Given the description of an element on the screen output the (x, y) to click on. 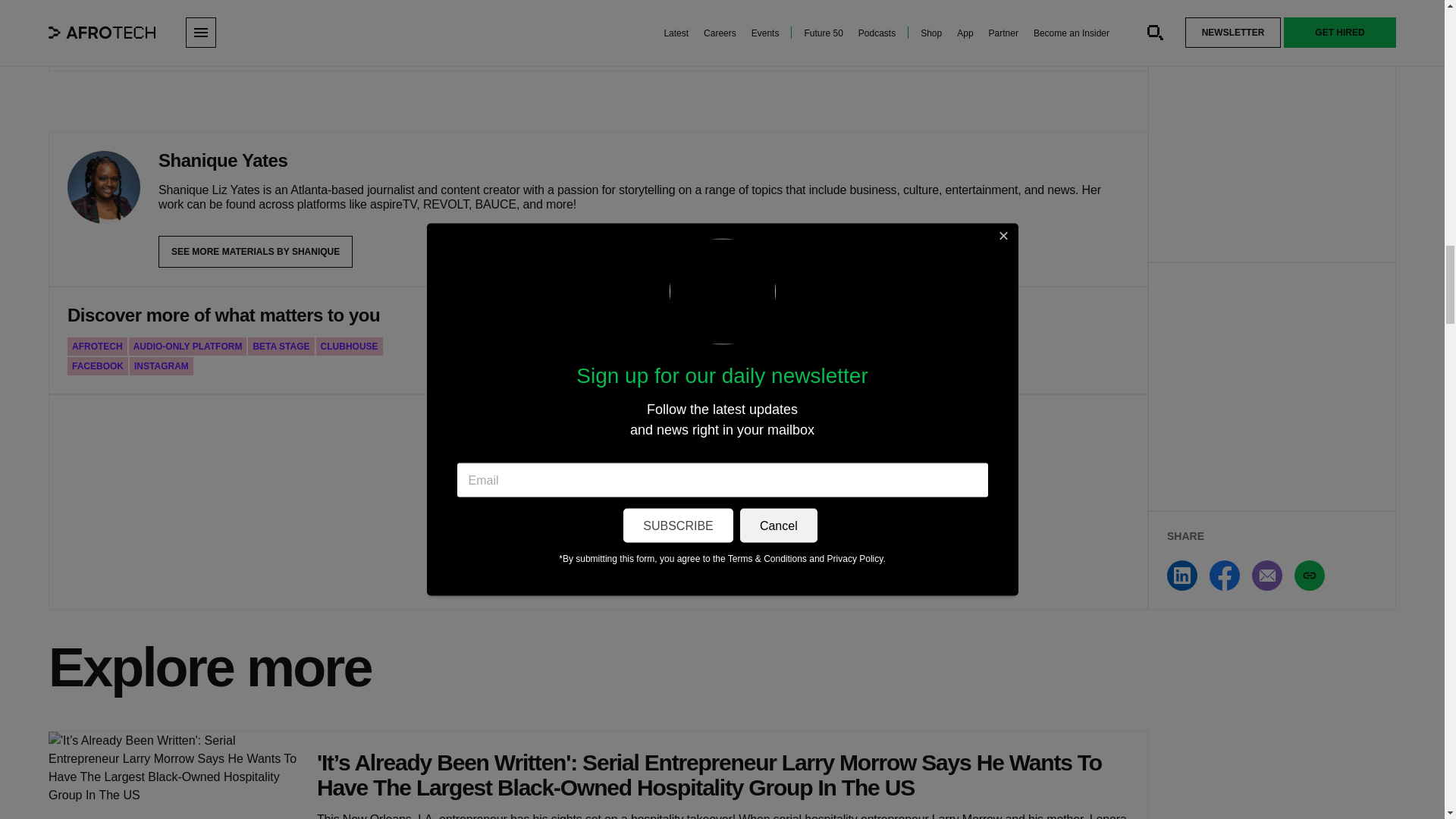
Shanique Yates (102, 186)
SEE MORE MATERIALS BY SHANIQUE (255, 251)
Shanique Yates (222, 160)
AFROTECH (97, 346)
